Given the description of an element on the screen output the (x, y) to click on. 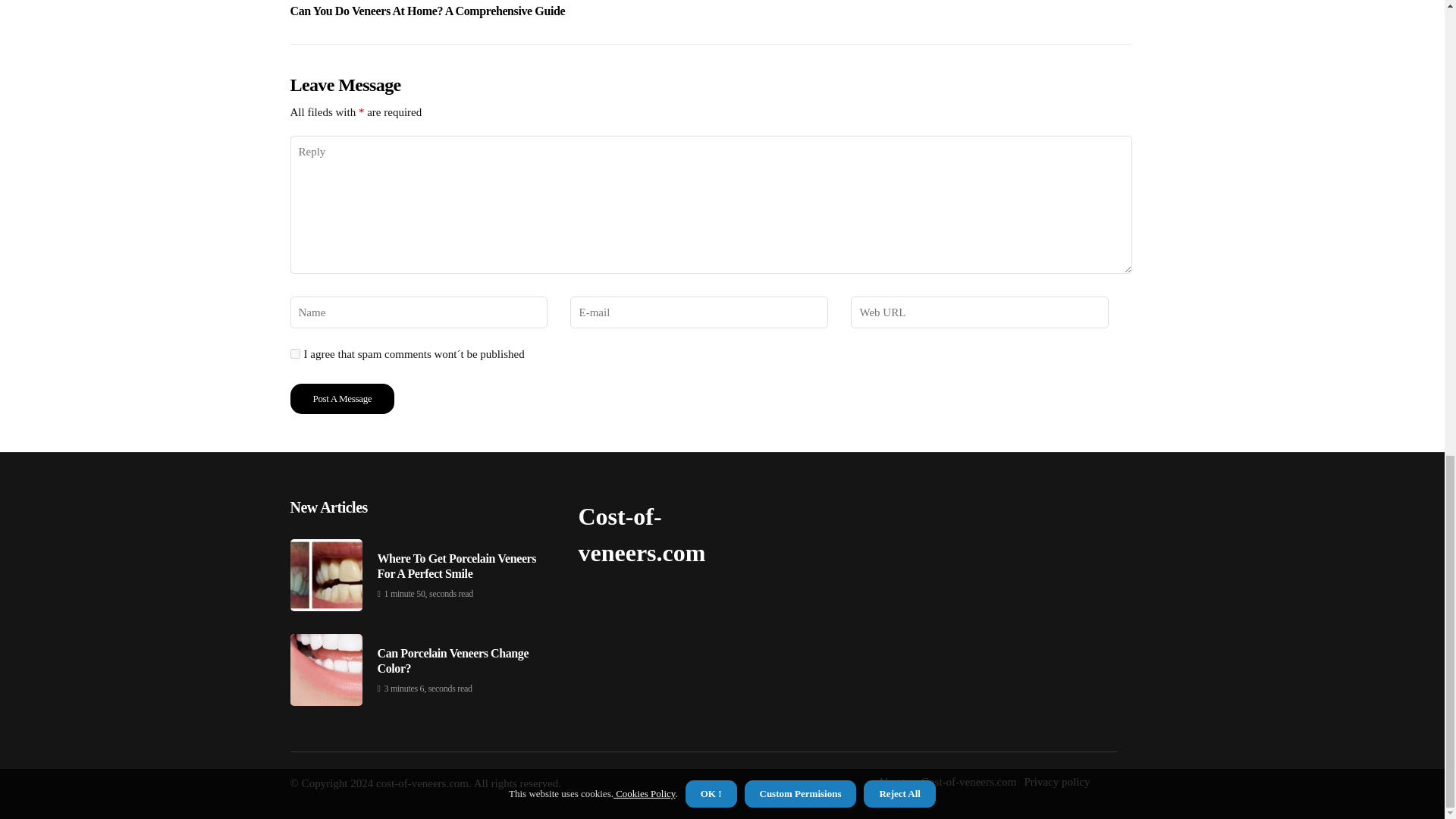
yes (426, 9)
Post a Message (294, 353)
Post a Message (341, 399)
